Given the description of an element on the screen output the (x, y) to click on. 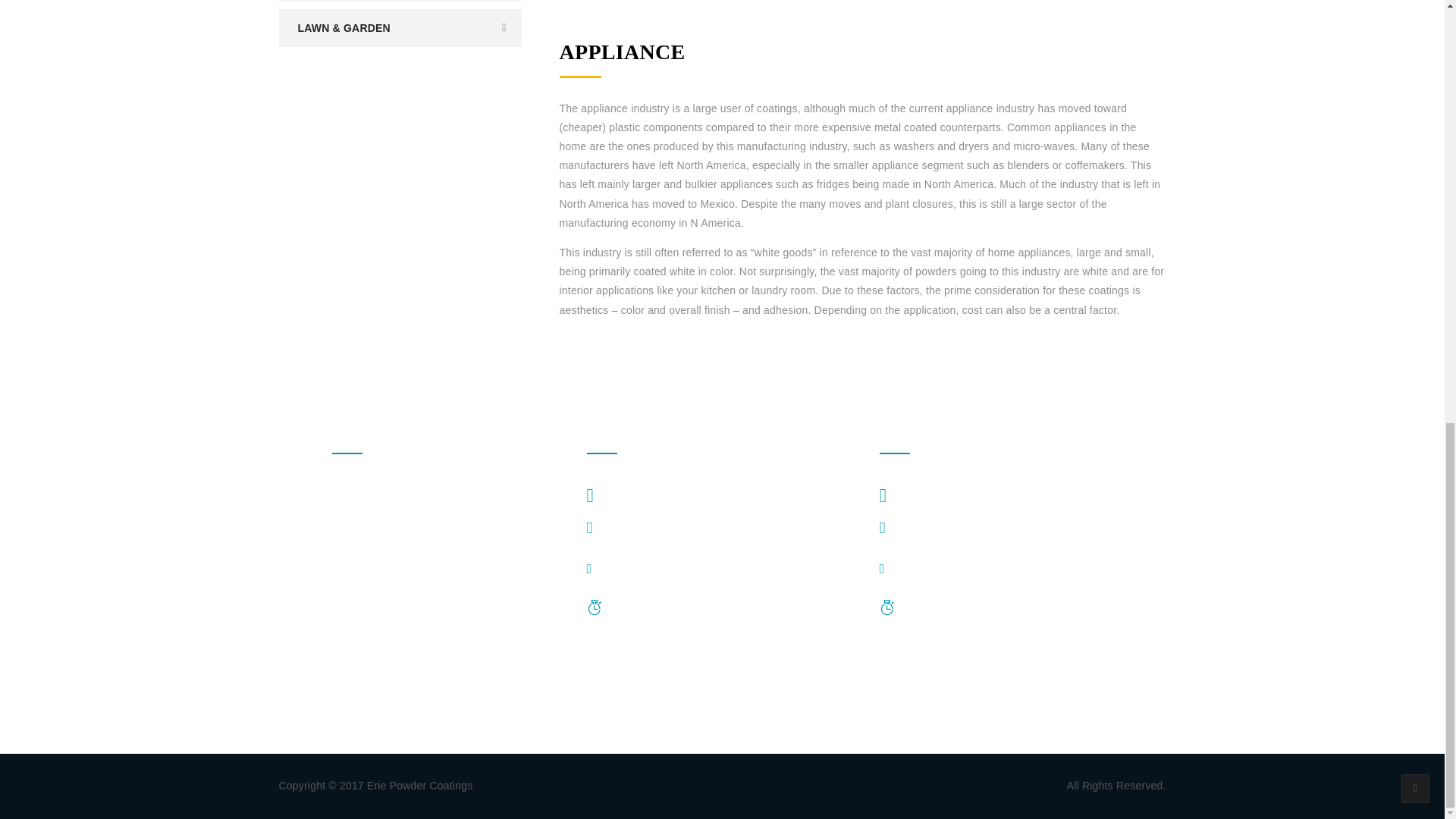
Contact Us (358, 693)
About Us (354, 486)
FAQ (342, 575)
905 - 957 - 4086 (652, 528)
Newsletters (359, 604)
Products (353, 516)
News (345, 634)
Colors (347, 545)
Links (344, 664)
